Given the description of an element on the screen output the (x, y) to click on. 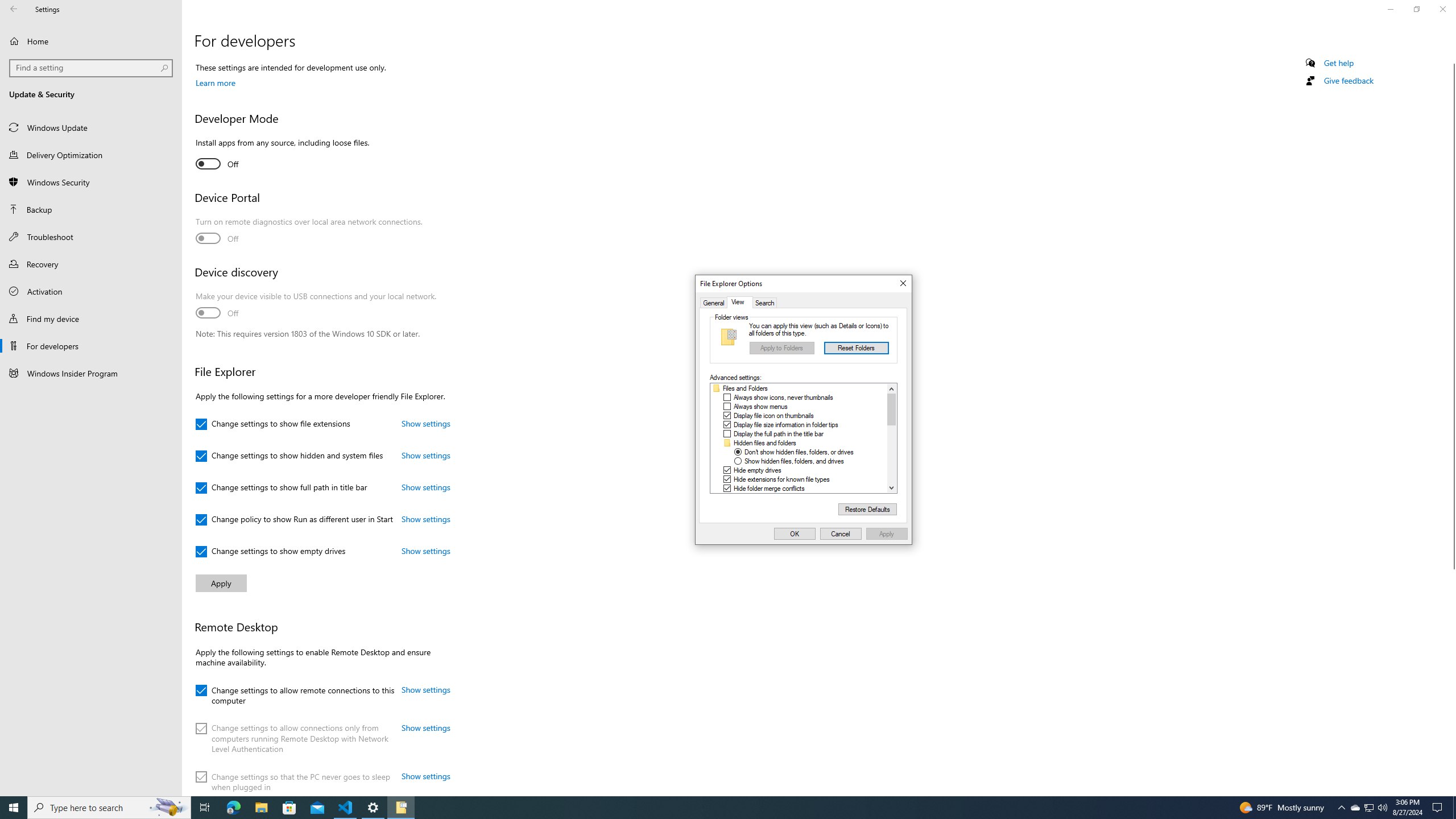
File Explorer Options - 1 running window (400, 807)
Show hidden files, folders, and drives (794, 461)
Close (902, 283)
Apply to Folders (781, 347)
Display the full path in the title bar (778, 433)
View (739, 302)
Always show menus (760, 406)
Display file size information in folder tips (786, 424)
Don't show hidden files, folders, or drives (799, 452)
